Given the description of an element on the screen output the (x, y) to click on. 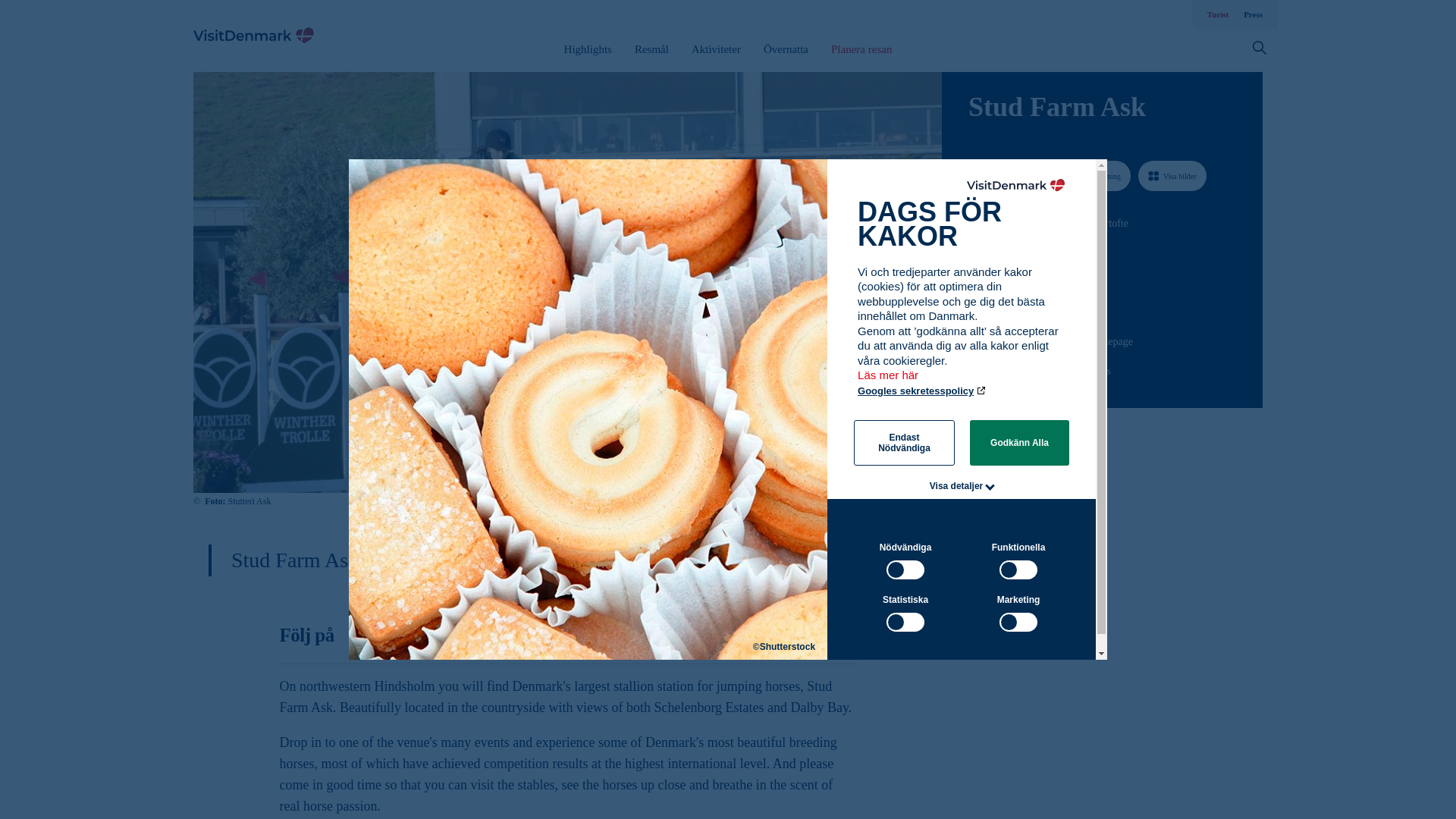
Path (973, 339)
Visa detaljer (957, 485)
Googles sekretesspolicy (922, 390)
Path (973, 279)
